Given the description of an element on the screen output the (x, y) to click on. 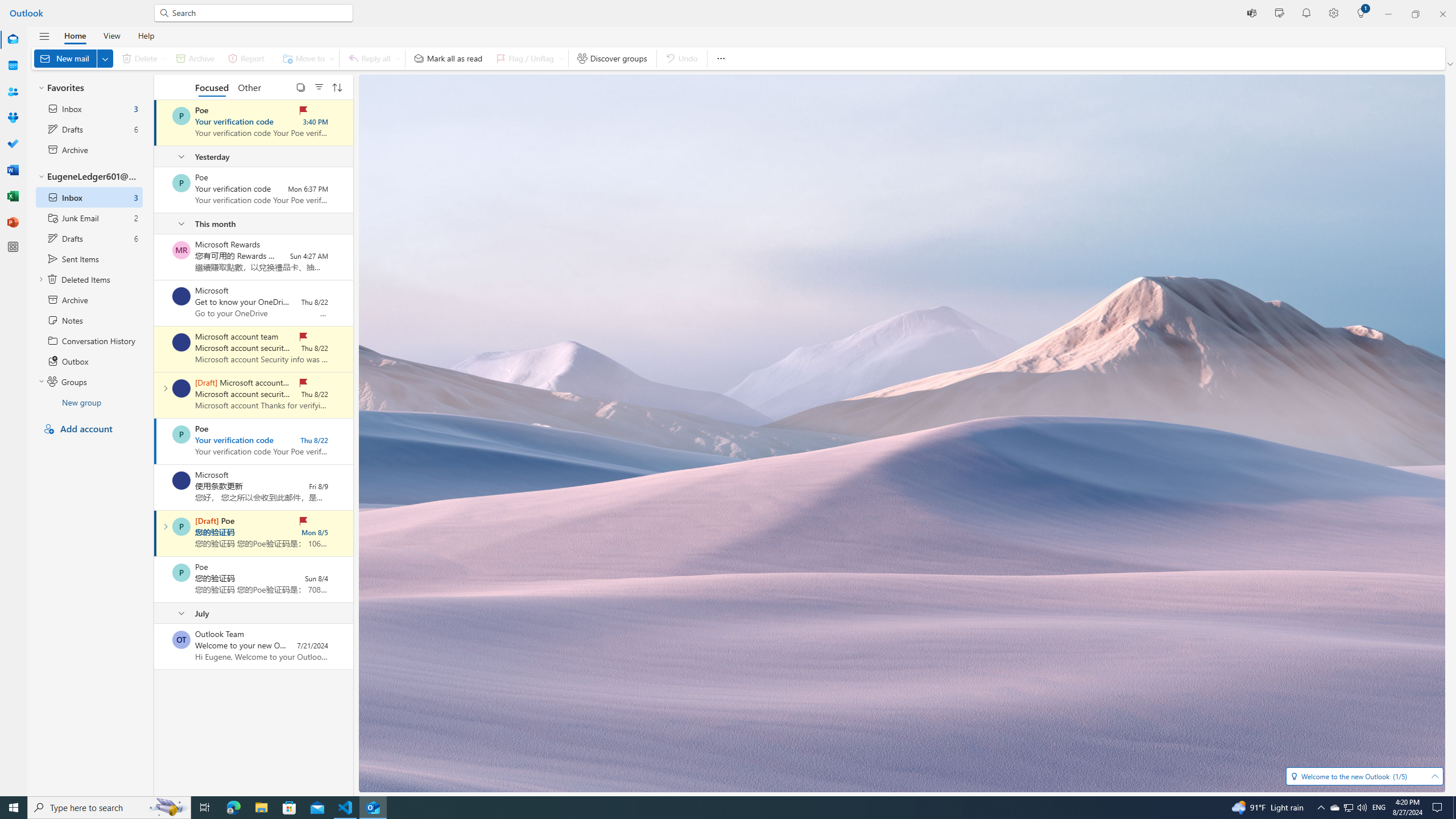
Sent Items (89, 258)
Archive (89, 299)
Home (74, 35)
Focused (212, 86)
Expand to see delete options (164, 58)
Outlook (new) - 1 running window (373, 807)
Inbox selected 3 unread (89, 196)
Search for email, meetings, files and more. (258, 12)
Expand to see more report options (271, 58)
People (12, 92)
New group (89, 401)
